Given the description of an element on the screen output the (x, y) to click on. 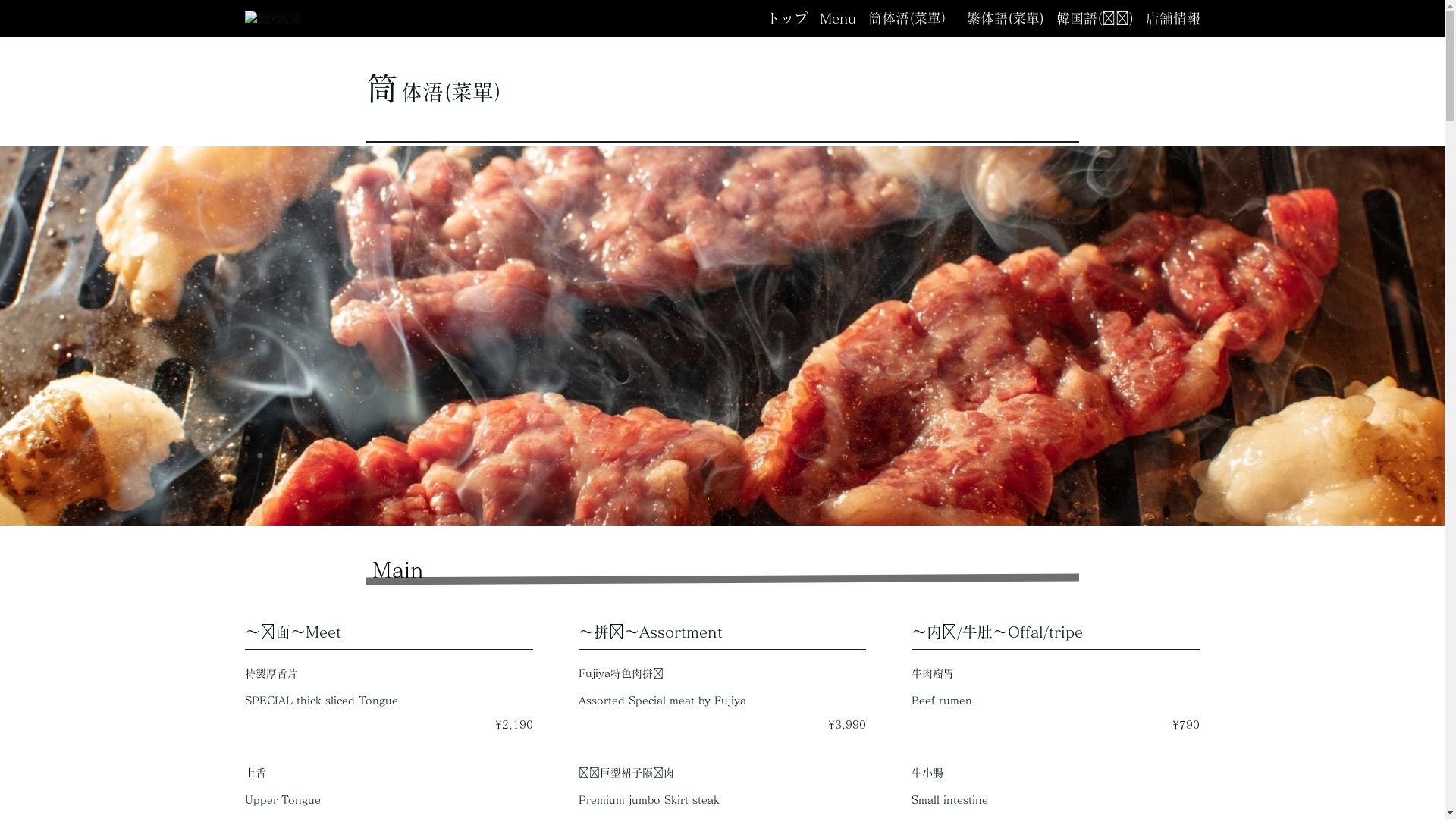
Menu Element type: text (837, 18)
